Given the description of an element on the screen output the (x, y) to click on. 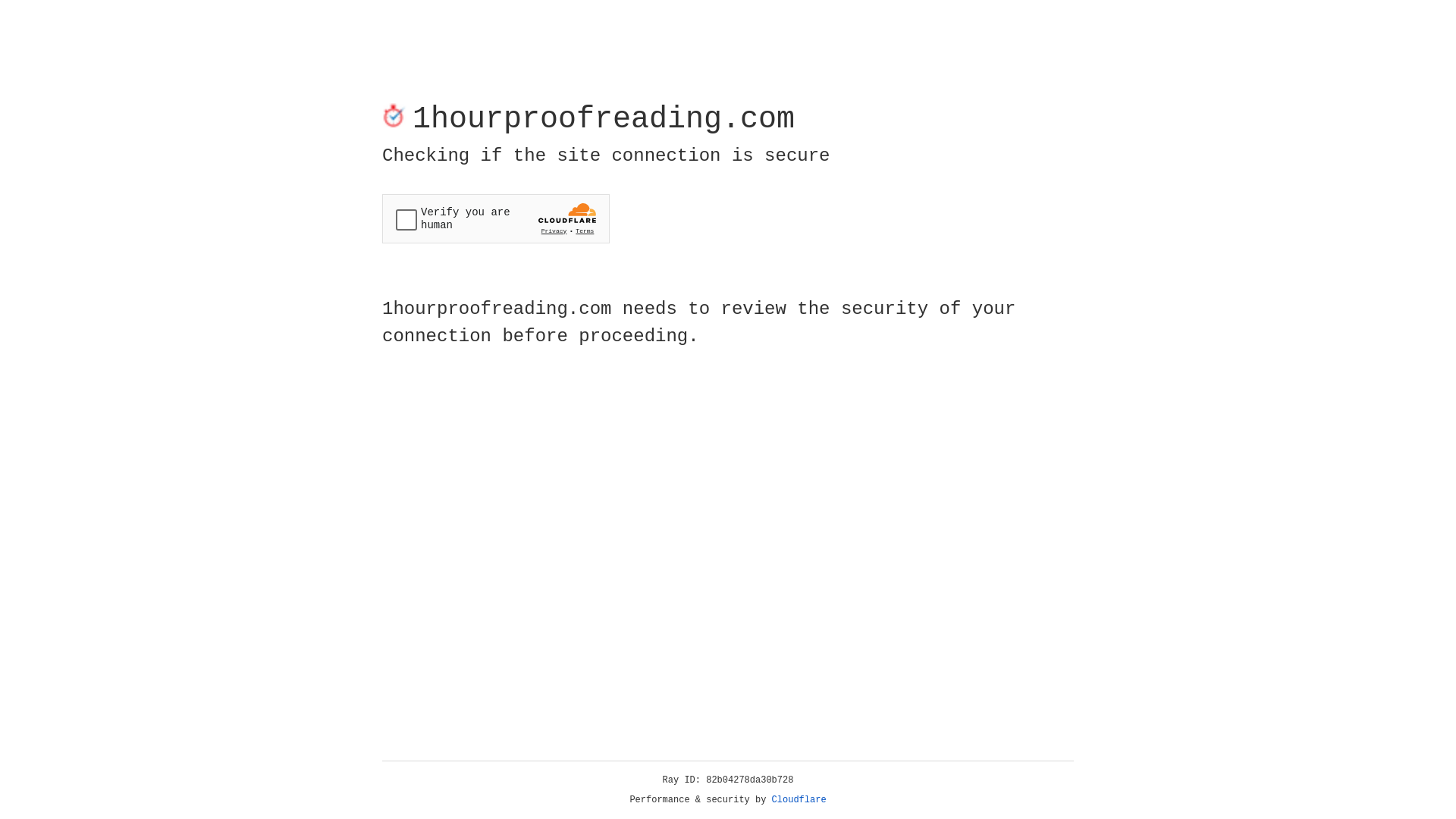
Cloudflare Element type: text (798, 799)
Widget containing a Cloudflare security challenge Element type: hover (495, 218)
